Given the description of an element on the screen output the (x, y) to click on. 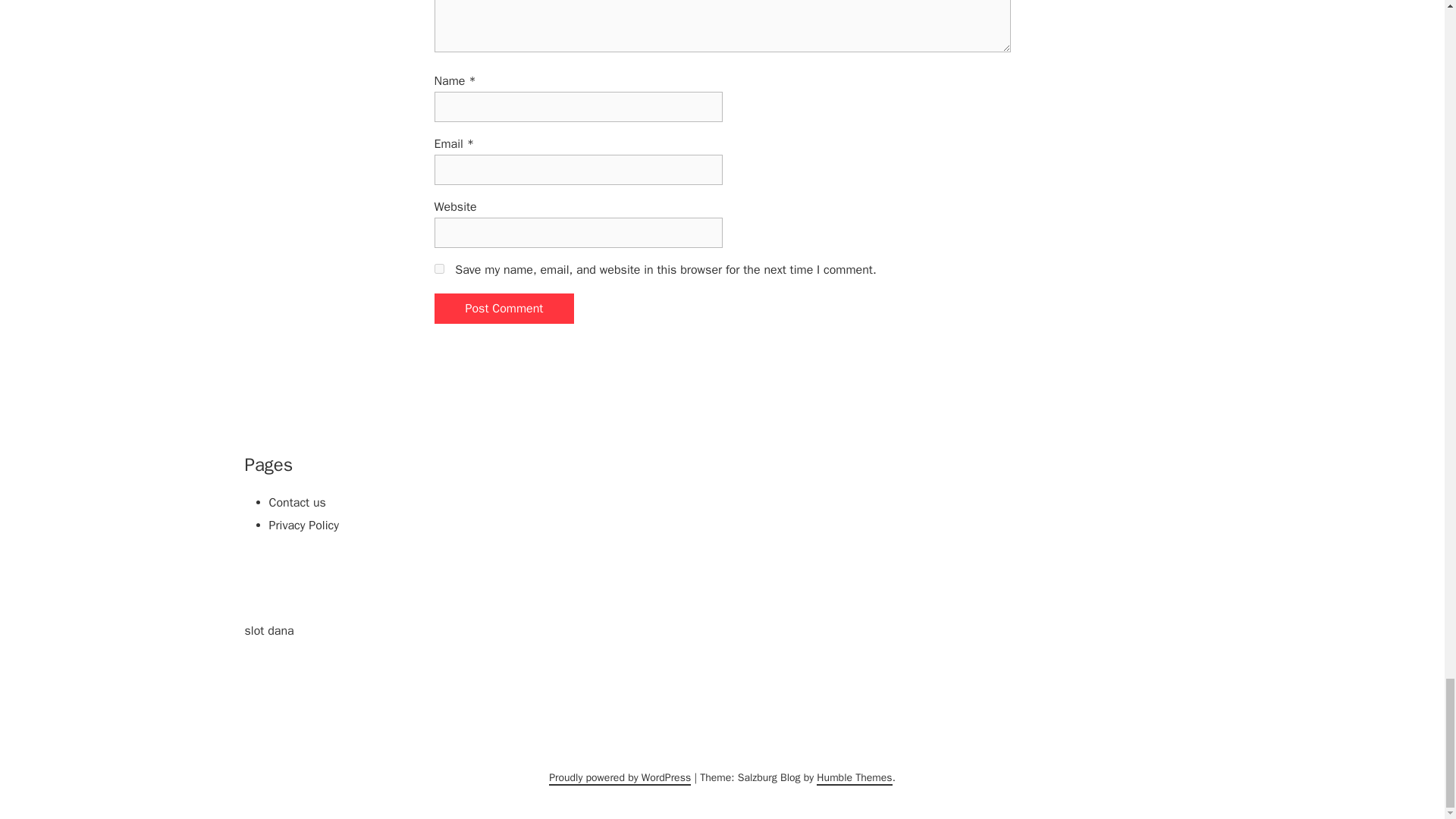
yes (438, 268)
Post Comment (503, 308)
